Given the description of an element on the screen output the (x, y) to click on. 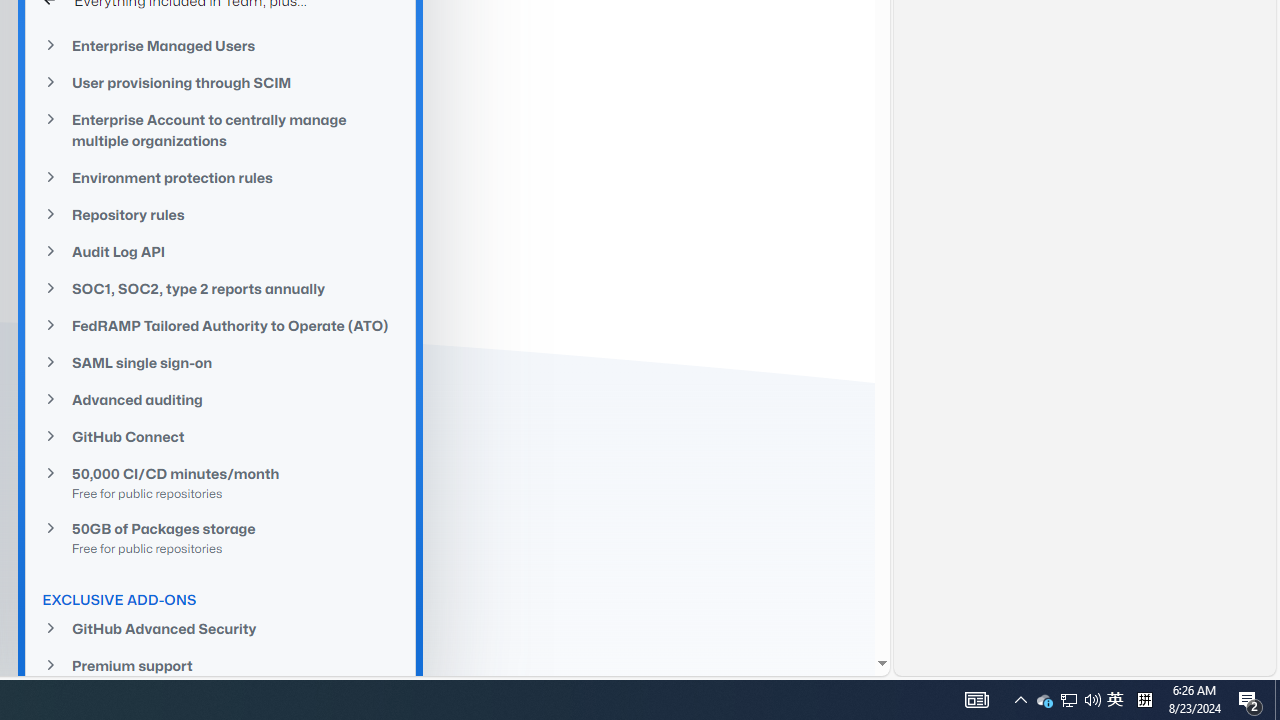
Environment protection rules (220, 178)
SOC1, SOC2, type 2 reports annually (220, 288)
Advanced auditing (220, 399)
User provisioning through SCIM (220, 83)
SOC1, SOC2, type 2 reports annually (220, 289)
User provisioning through SCIM (220, 82)
50,000 CI/CD minutes/monthFree for public repositories (220, 482)
50GB of Packages storage Free for public repositories (220, 537)
Repository rules (220, 214)
FedRAMP Tailored Authority to Operate (ATO) (220, 325)
FedRAMP Tailored Authority to Operate (ATO) (220, 325)
Enterprise Managed Users (220, 44)
Environment protection rules (220, 177)
SAML single sign-on (220, 363)
